Given the description of an element on the screen output the (x, y) to click on. 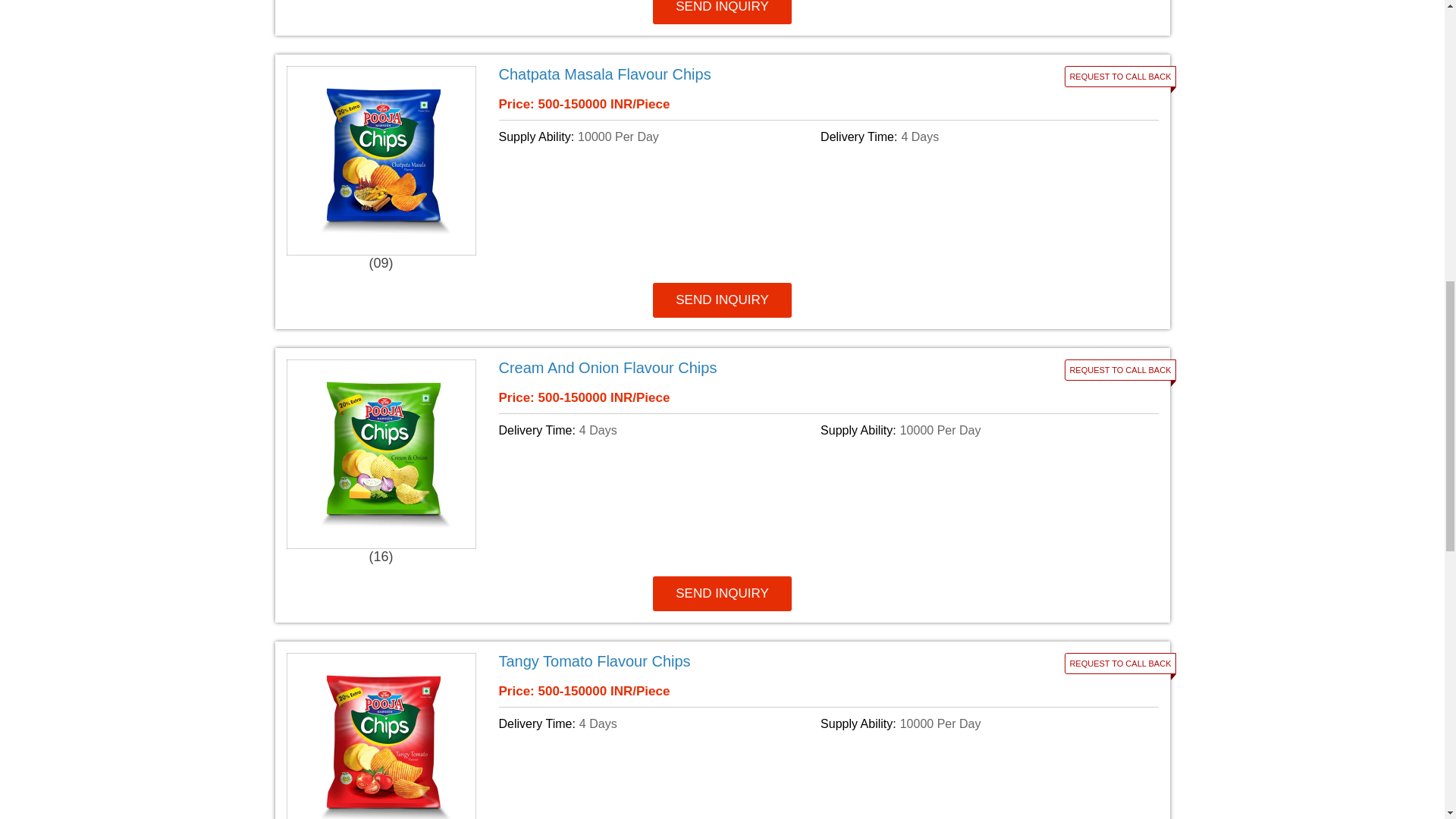
Chatpata Masala Flavour Chips (716, 74)
Delivery Time: 4 Days (979, 136)
Delivery Time: 4 Days (657, 723)
Supply Ability: 10000 Per Day (657, 136)
Supply Ability: 10000 Per Day (979, 430)
Tangy Tomato Flavour Chips (716, 661)
Supply Ability: 10000 Per Day (979, 723)
Cream And Onion Flavour Chips (716, 367)
Delivery Time: 4 Days (657, 430)
